Given the description of an element on the screen output the (x, y) to click on. 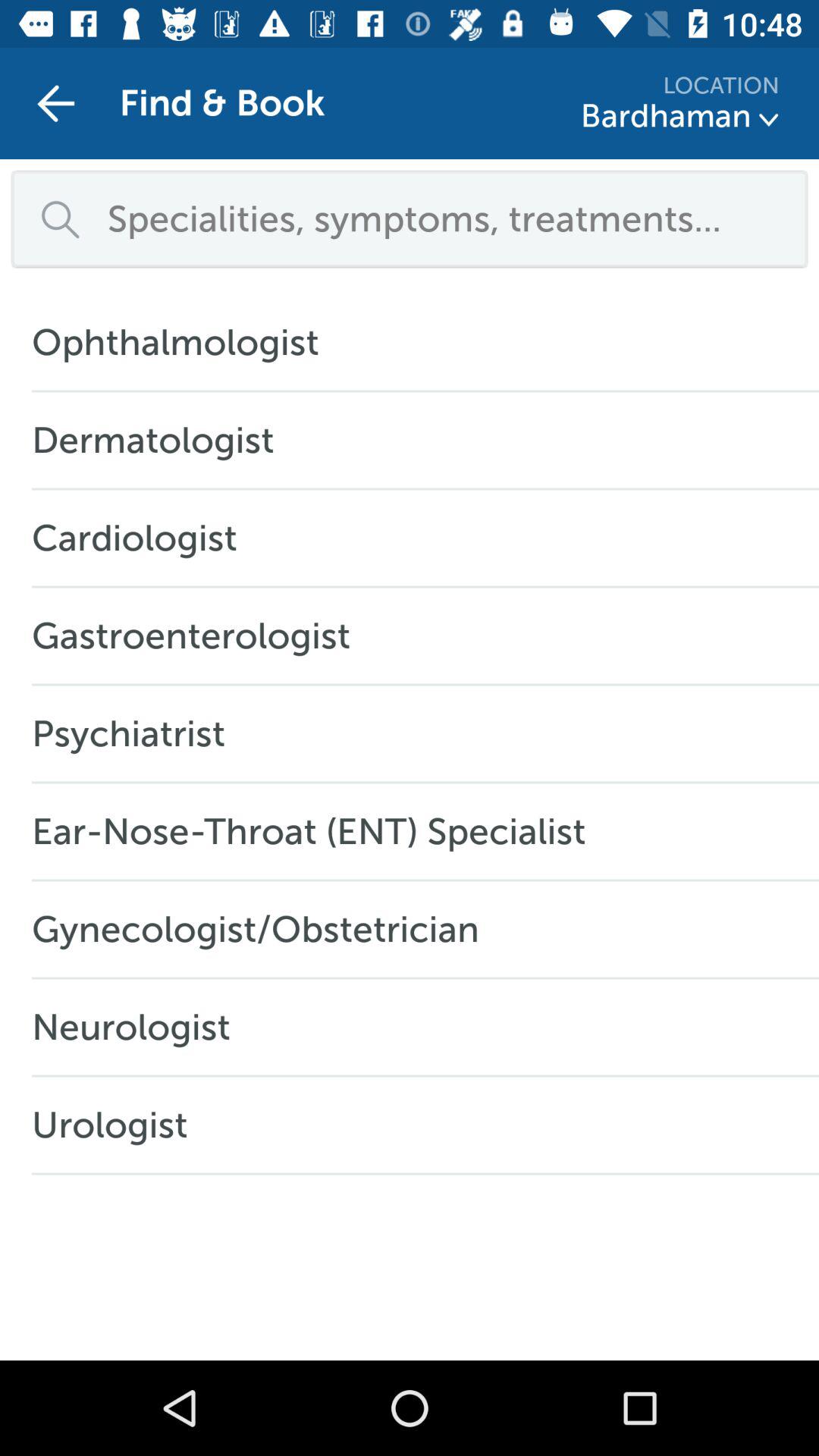
turn off ear nose throat (316, 831)
